Given the description of an element on the screen output the (x, y) to click on. 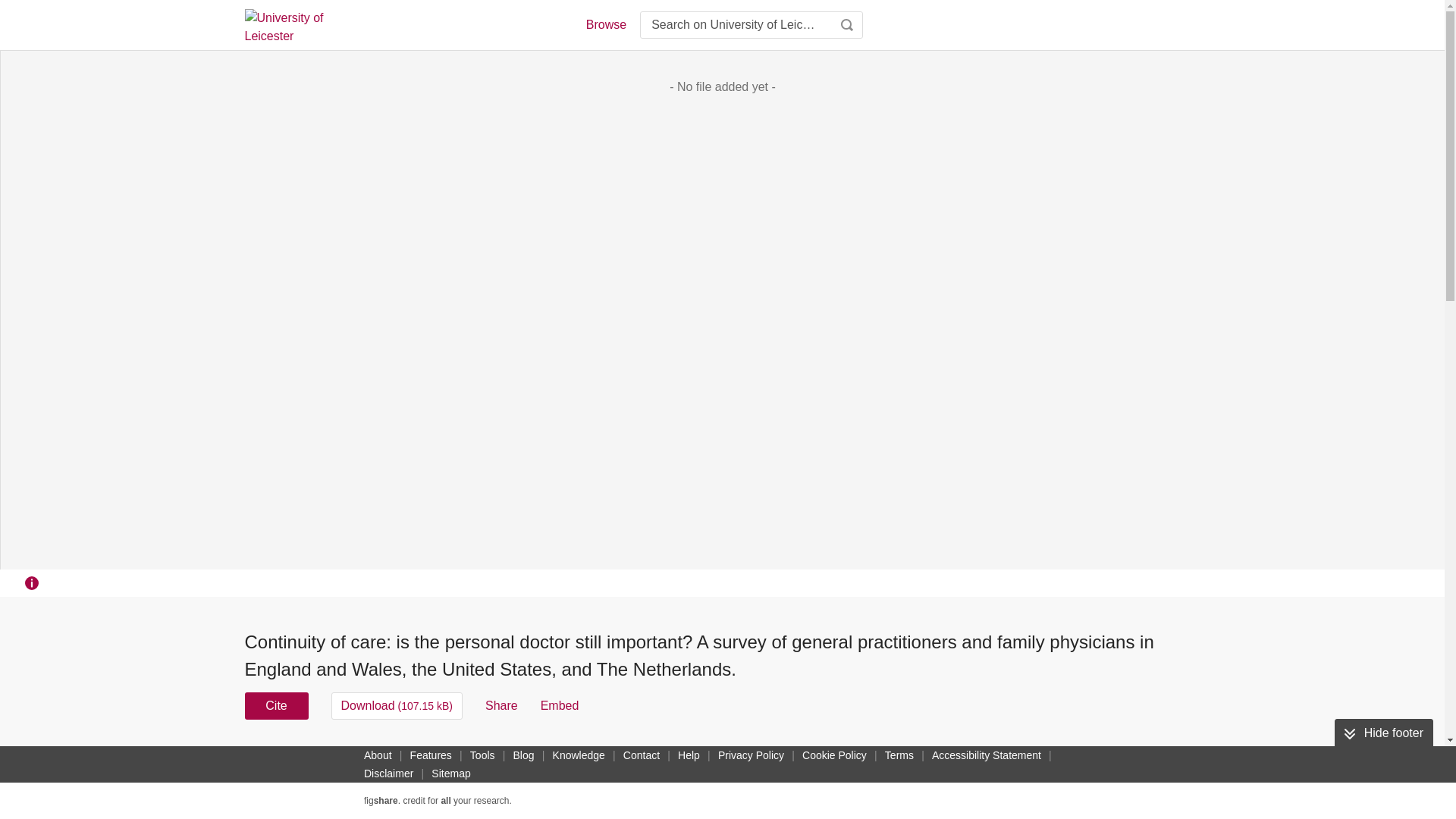
Features (431, 755)
USAGE METRICS (976, 759)
Browse (605, 24)
Hide footer (1383, 733)
Cite (275, 705)
About (377, 755)
Embed (559, 705)
Share (501, 705)
